Given the description of an element on the screen output the (x, y) to click on. 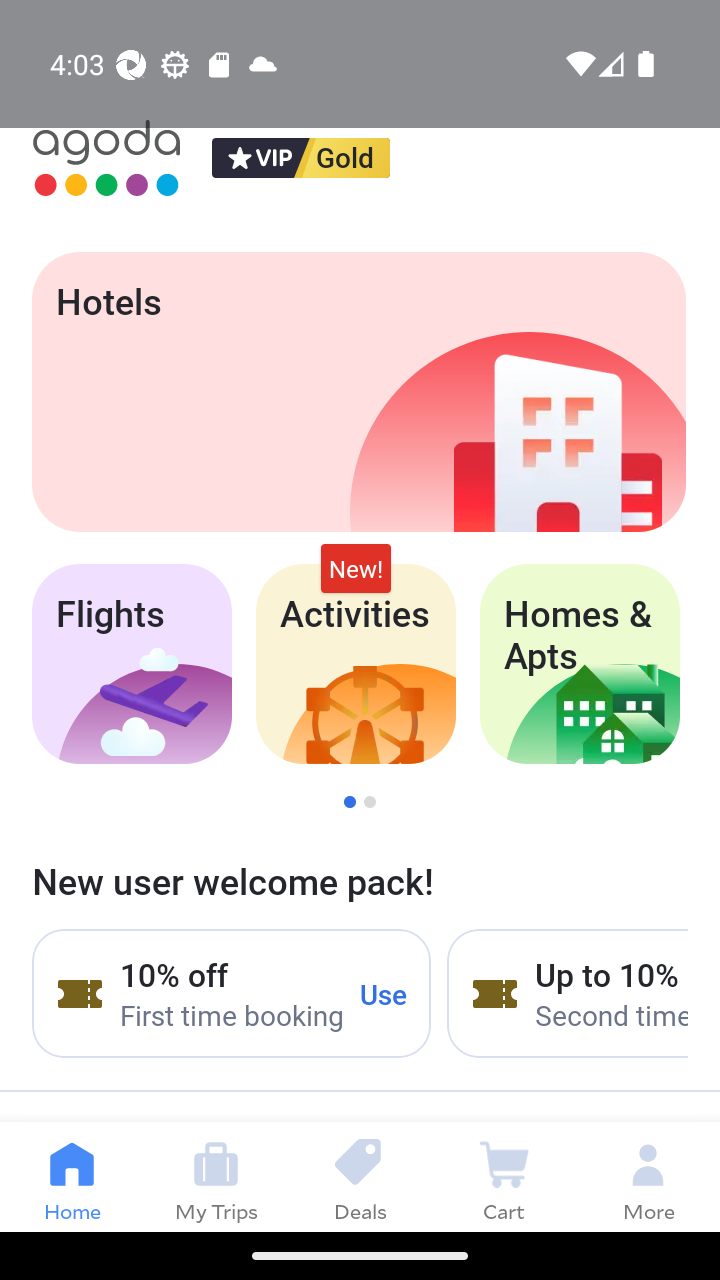
Hotels (358, 392)
New! (355, 568)
Flights (131, 664)
Activities (355, 664)
Homes & Apts (579, 664)
Use (384, 993)
Home (72, 1176)
My Trips (216, 1176)
Deals (360, 1176)
Cart (504, 1176)
More (648, 1176)
